Given the description of an element on the screen output the (x, y) to click on. 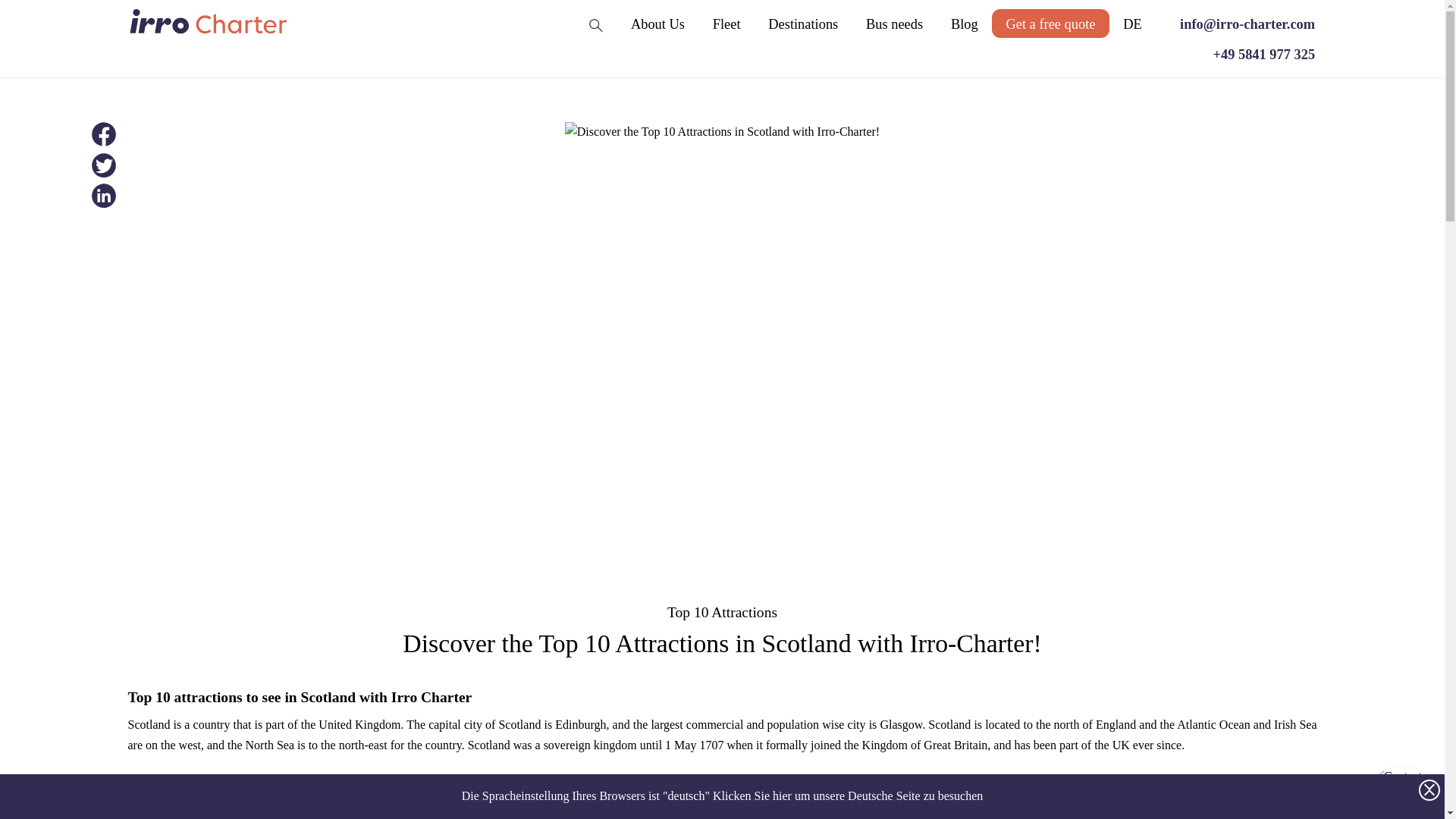
Fleet (726, 23)
logo-charter (207, 23)
search (595, 25)
Glasgow, Scotland (1031, 791)
